Given the description of an element on the screen output the (x, y) to click on. 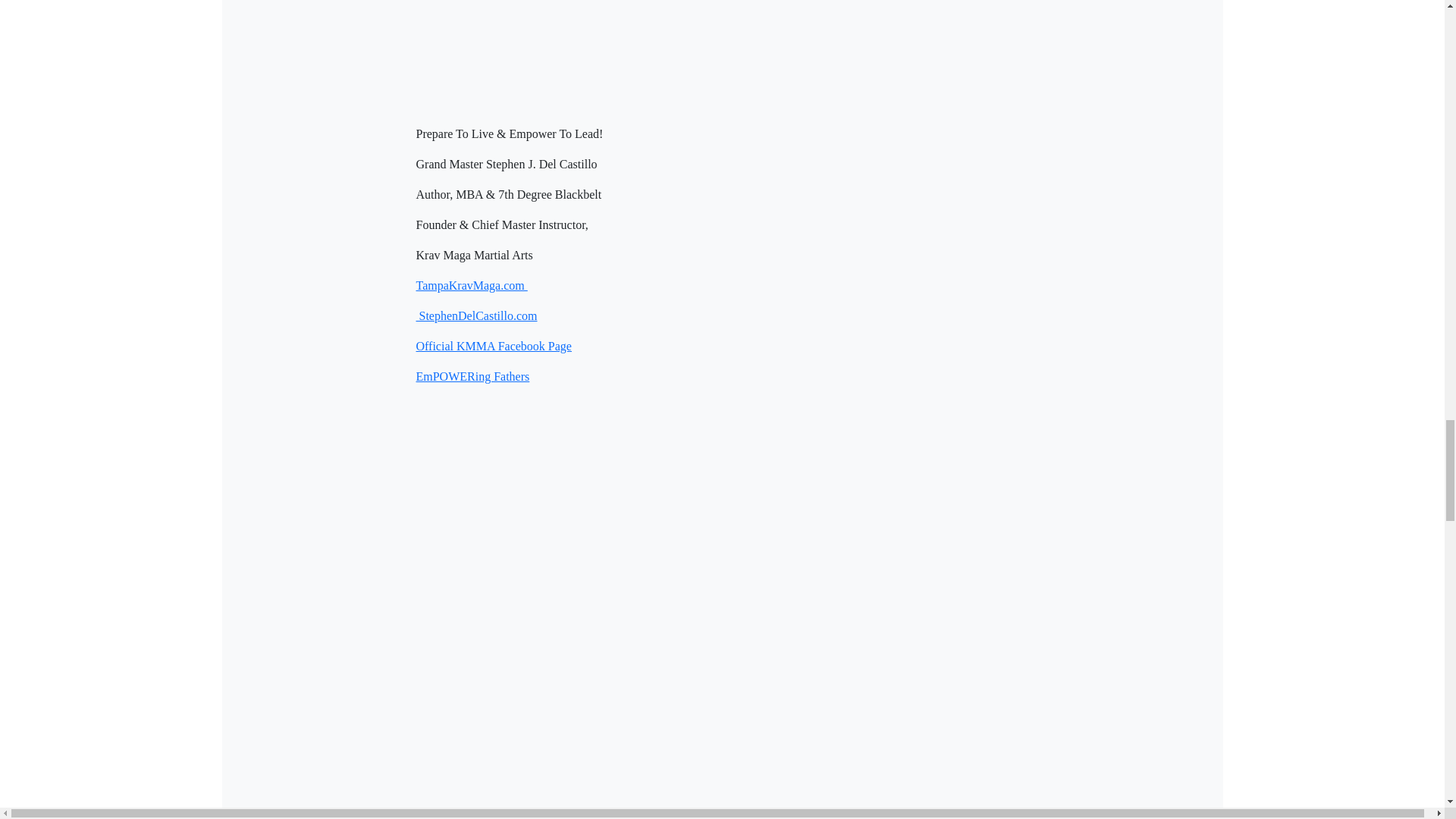
EmPOWERing Fathers (471, 376)
TampaKravMaga.com  (470, 285)
Official KMMA Facebook Page (492, 345)
 StephenDelCastillo.com (475, 315)
